Given the description of an element on the screen output the (x, y) to click on. 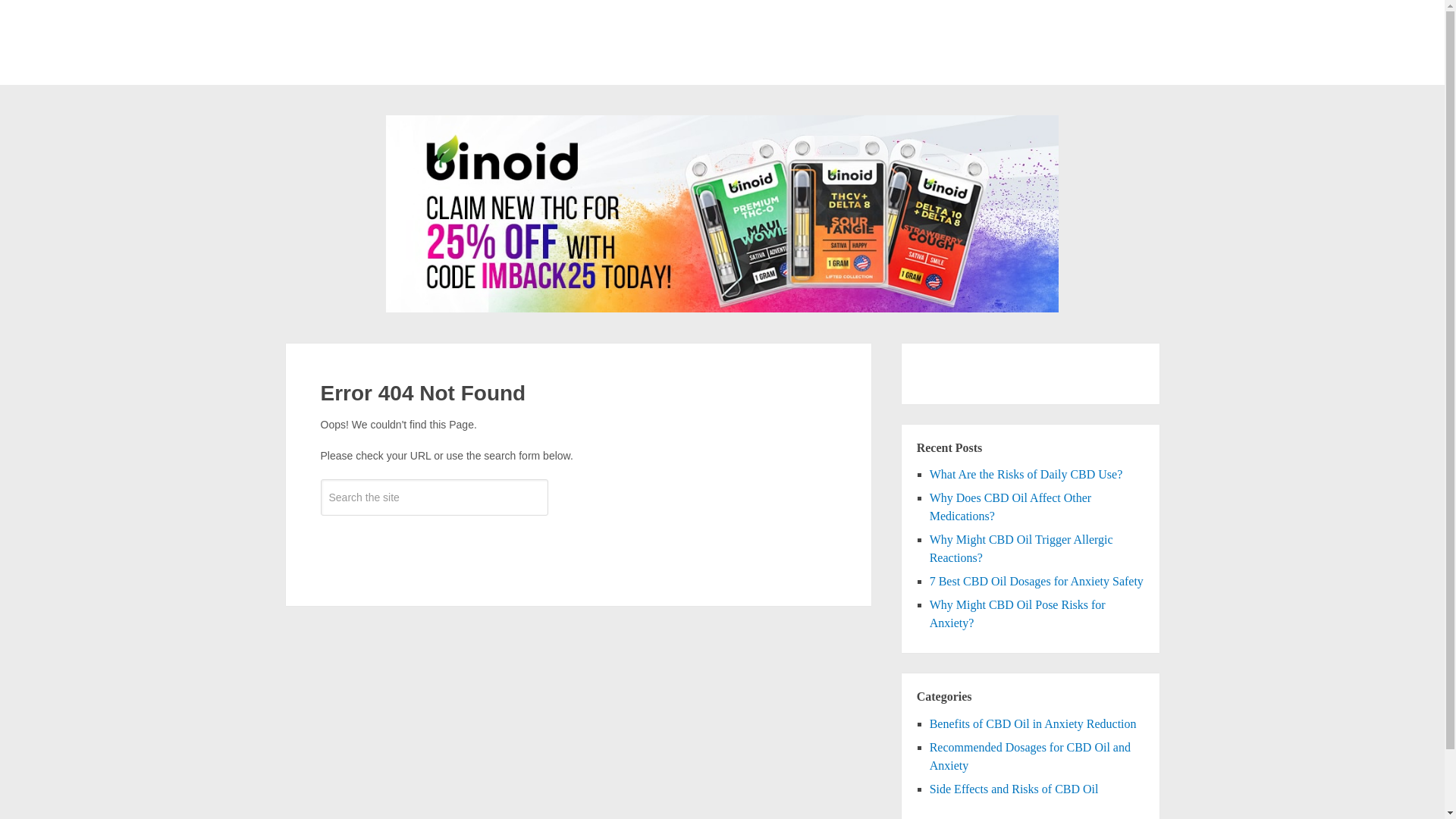
Why Might CBD Oil Pose Risks for Anxiety? (1017, 613)
Recommended Dosages for CBD Oil and Anxiety (1030, 756)
Side Effects and Risks of CBD Oil (1014, 788)
7 Best CBD Oil Dosages for Anxiety Safety (1036, 581)
Search (433, 541)
Why Might CBD Oil Trigger Allergic Reactions? (1021, 548)
What Are the Risks of Daily CBD Use? (1026, 473)
Why Does CBD Oil Affect Other Medications? (1010, 506)
Benefits of CBD Oil in Anxiety Reduction (1033, 723)
CBD OIL FOR ANXIETY (399, 56)
